Given the description of an element on the screen output the (x, y) to click on. 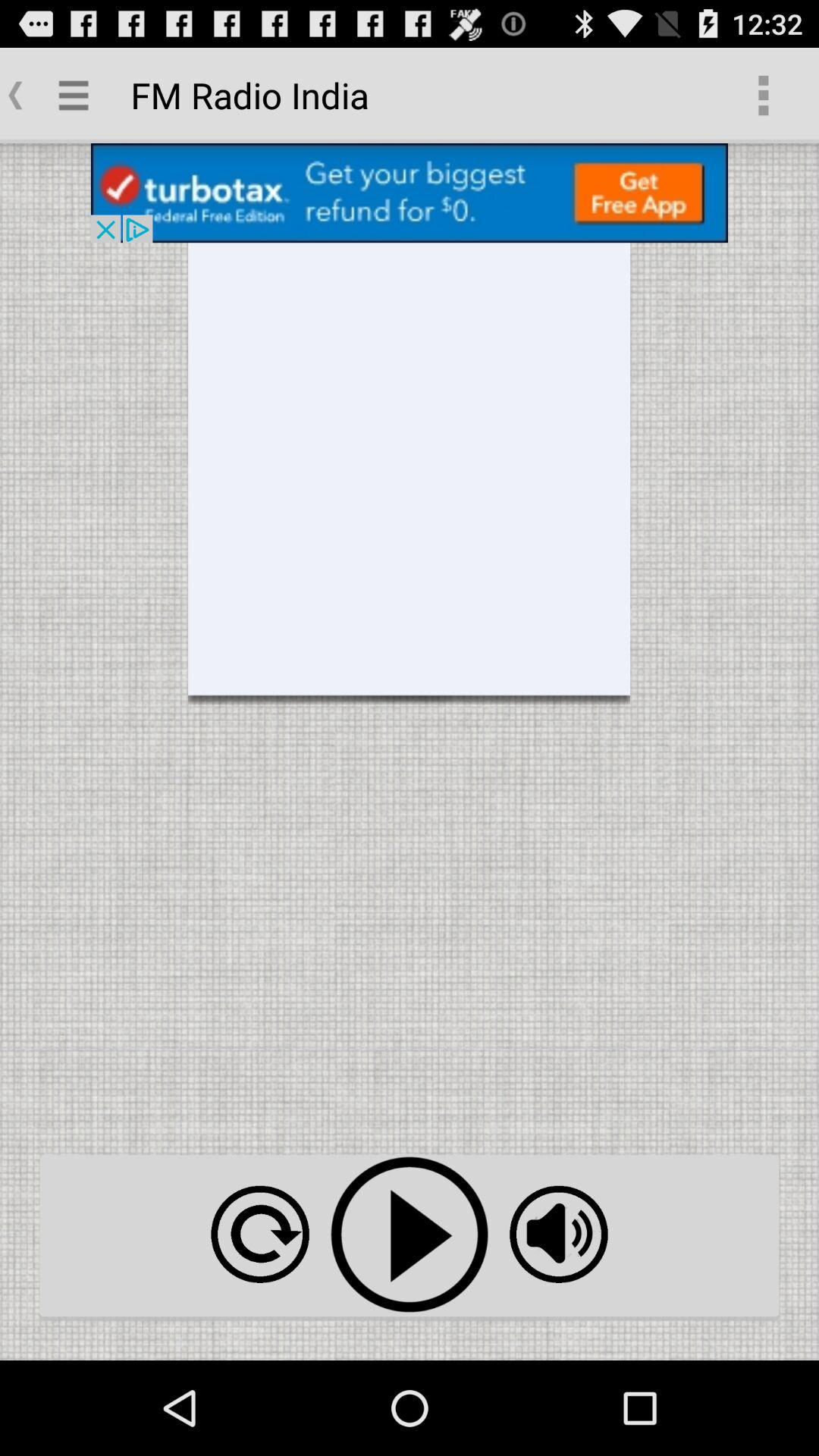
tap icon at the bottom right corner (558, 1234)
